Given the description of an element on the screen output the (x, y) to click on. 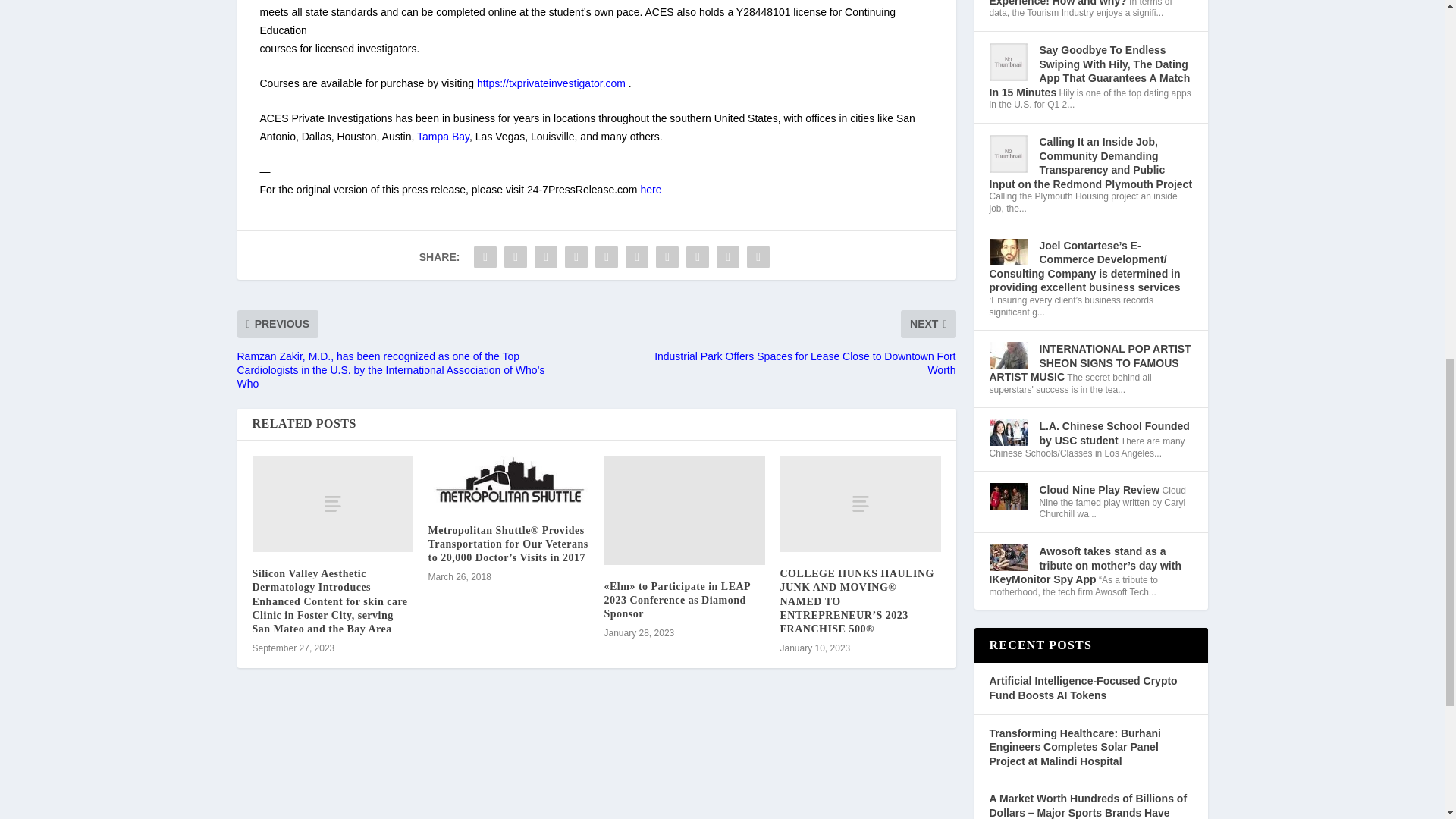
here (650, 189)
